Given the description of an element on the screen output the (x, y) to click on. 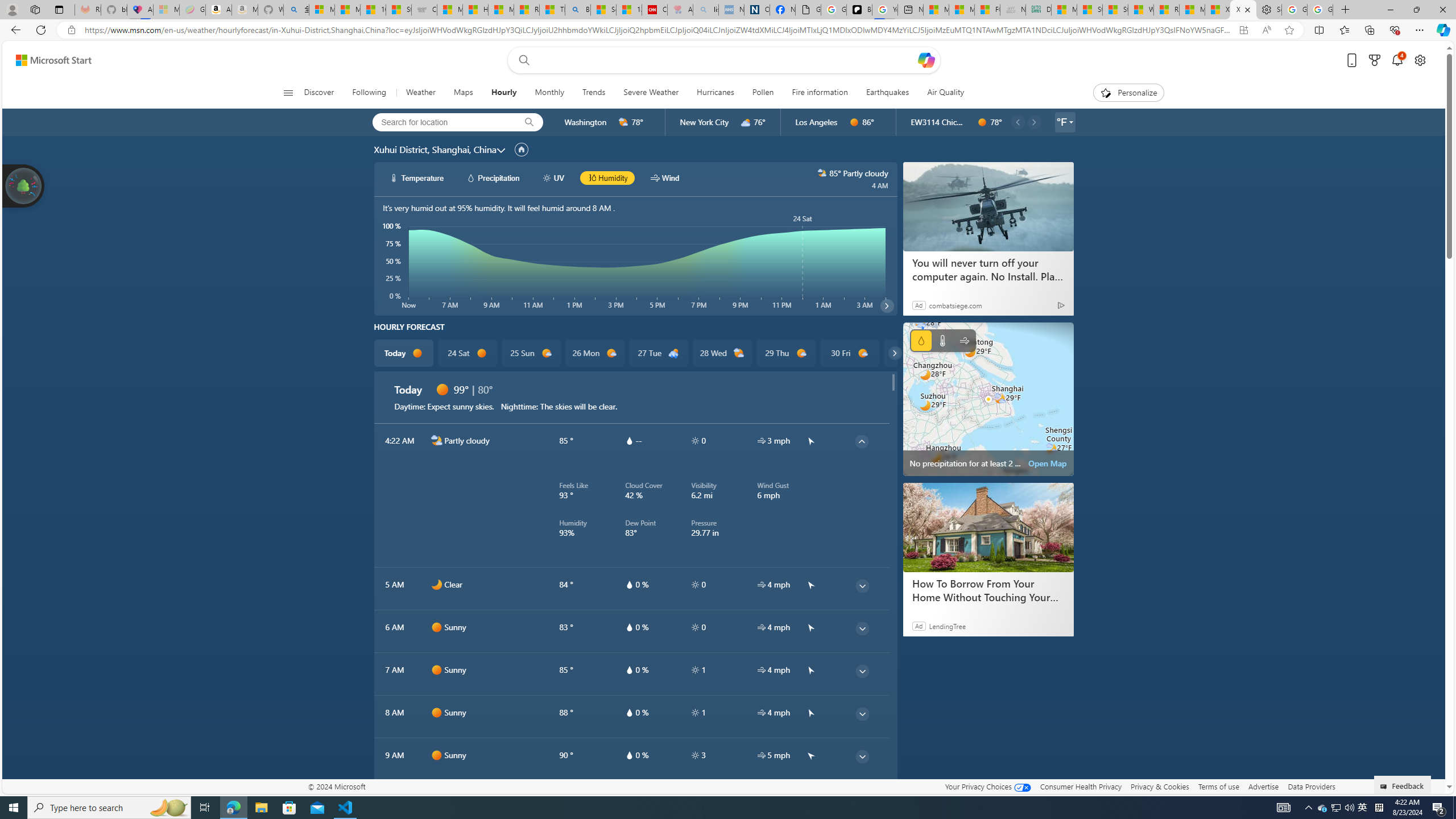
common/carouselChevron (894, 352)
d3000 (746, 121)
hourlyChart/precipitationWhite Precipitation (493, 178)
Your Privacy Choices (987, 785)
Arthritis: Ask Health Professionals - Sleeping (679, 9)
Maps (462, 92)
FOX News - MSN (986, 9)
static map image of vector map (988, 398)
